Given the description of an element on the screen output the (x, y) to click on. 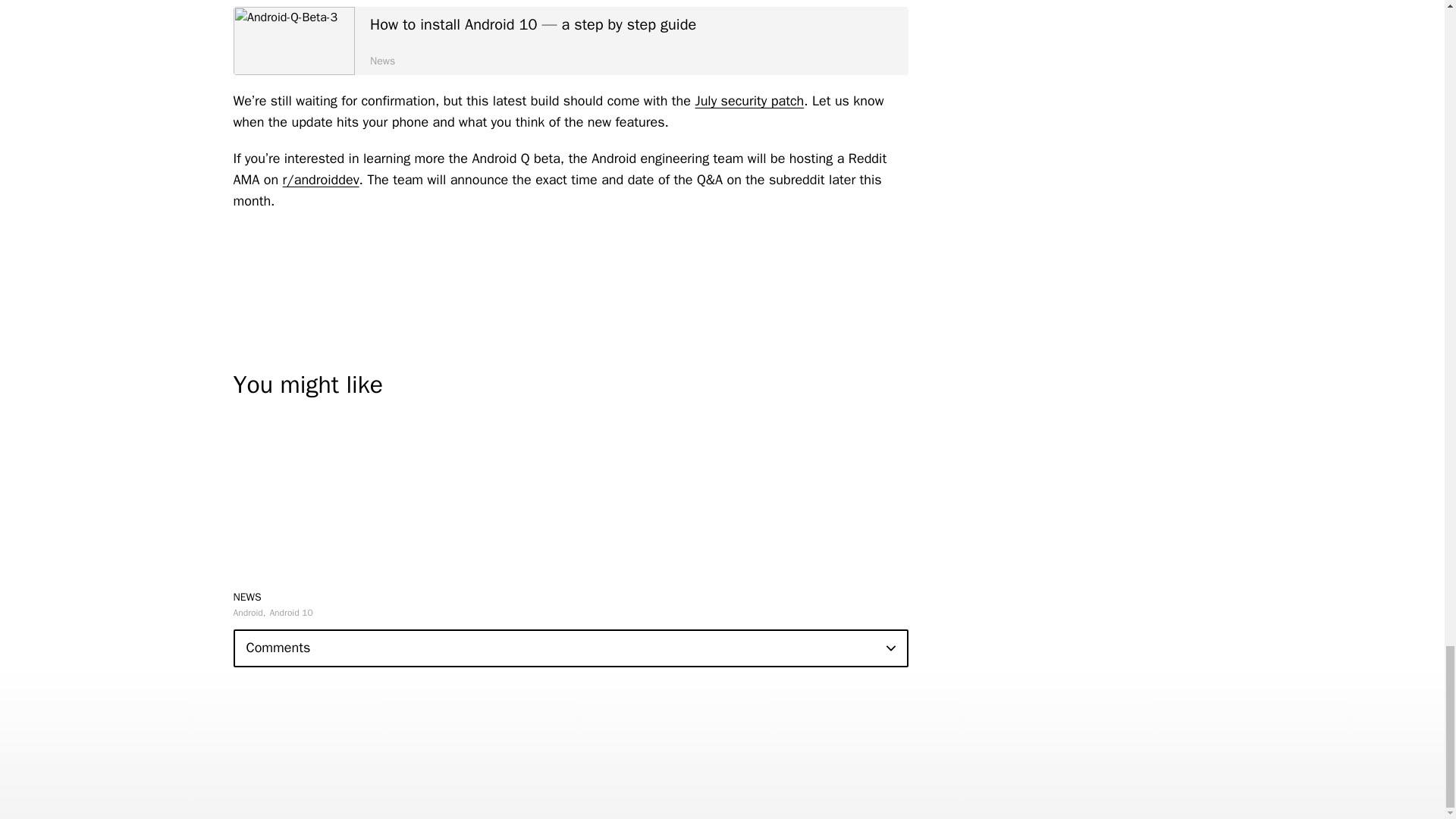
Android-Q-Beta-3 (293, 40)
Android (249, 611)
July security patch (748, 100)
Comments (570, 648)
Android 10 (291, 611)
NEWS (247, 595)
